Given the description of an element on the screen output the (x, y) to click on. 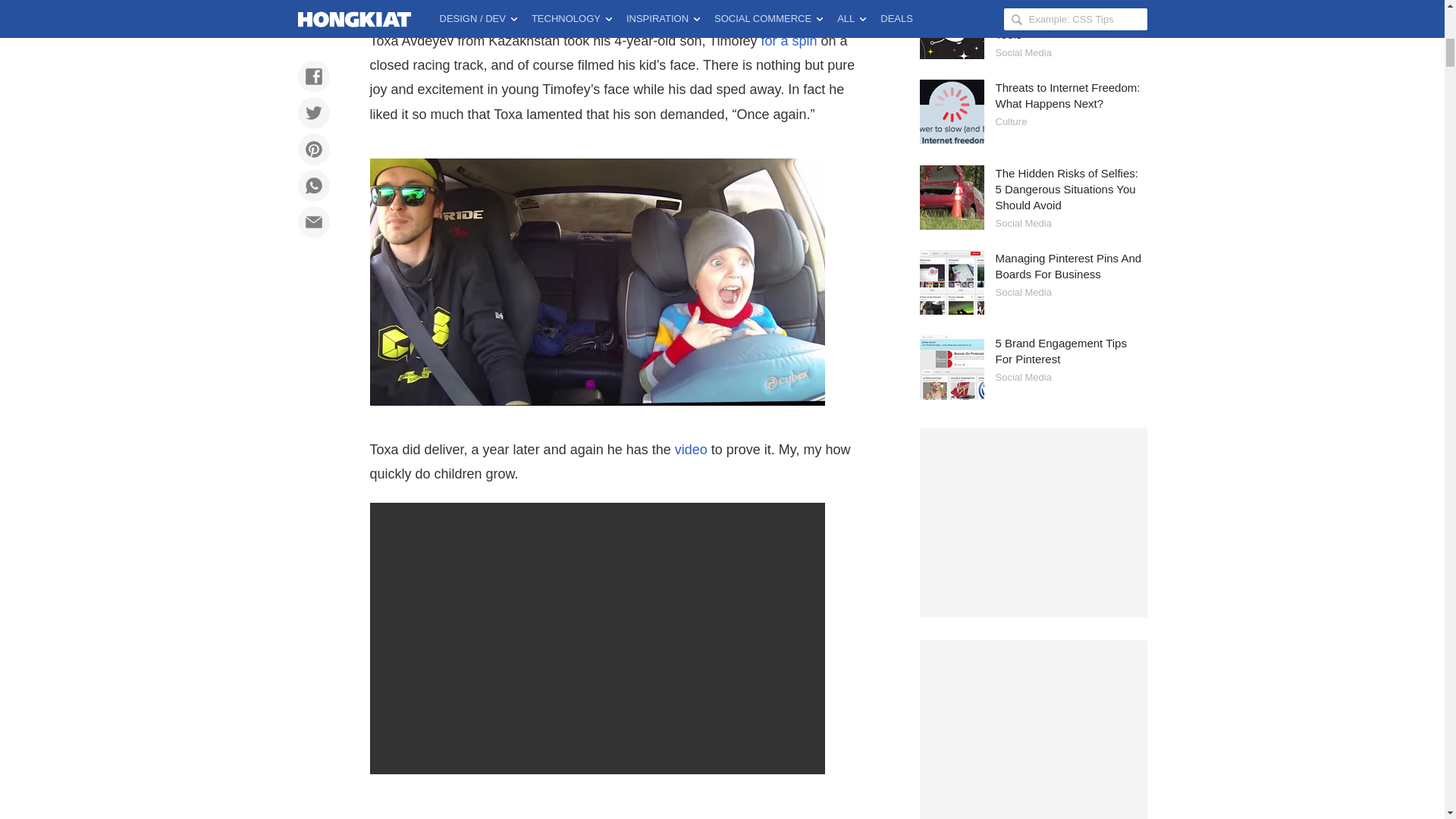
for a spin (788, 40)
video (691, 449)
